Given the description of an element on the screen output the (x, y) to click on. 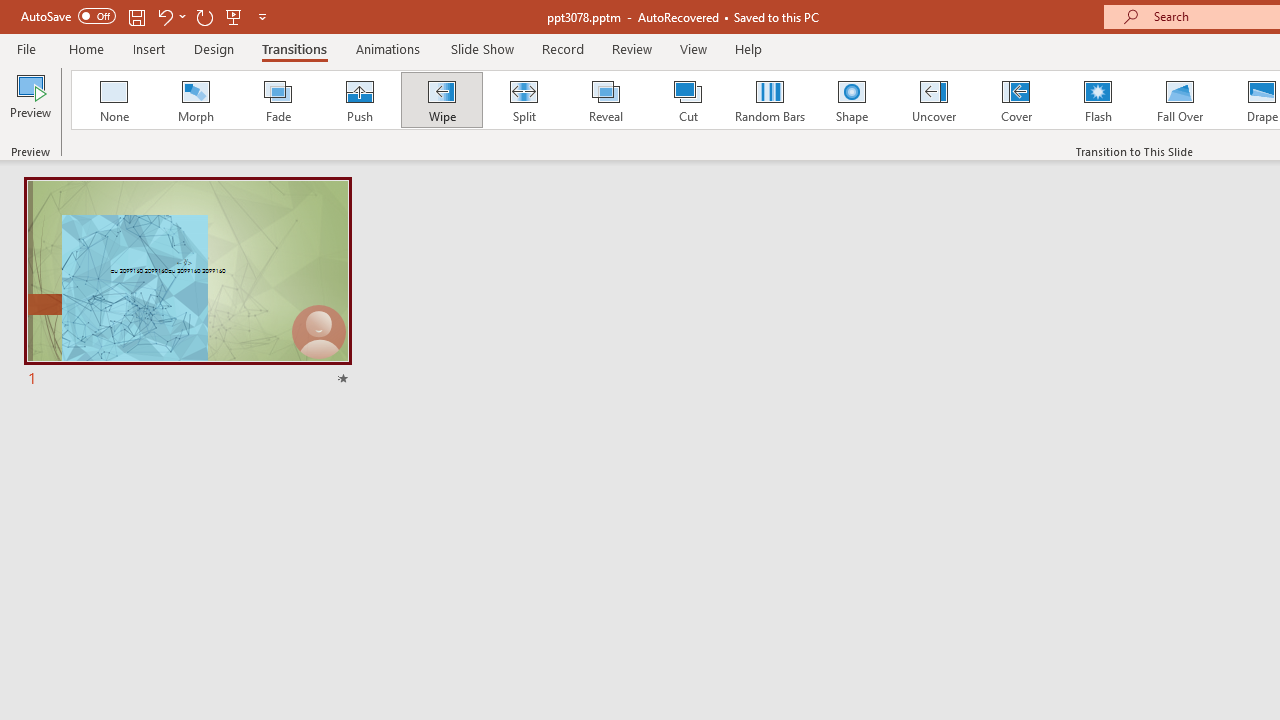
Uncover (934, 100)
Preview (30, 102)
Random Bars (770, 100)
Morph (195, 100)
Reveal (605, 100)
Flash (1098, 100)
Slide (187, 284)
Fade (277, 100)
Split (523, 100)
Shape (852, 100)
